Given the description of an element on the screen output the (x, y) to click on. 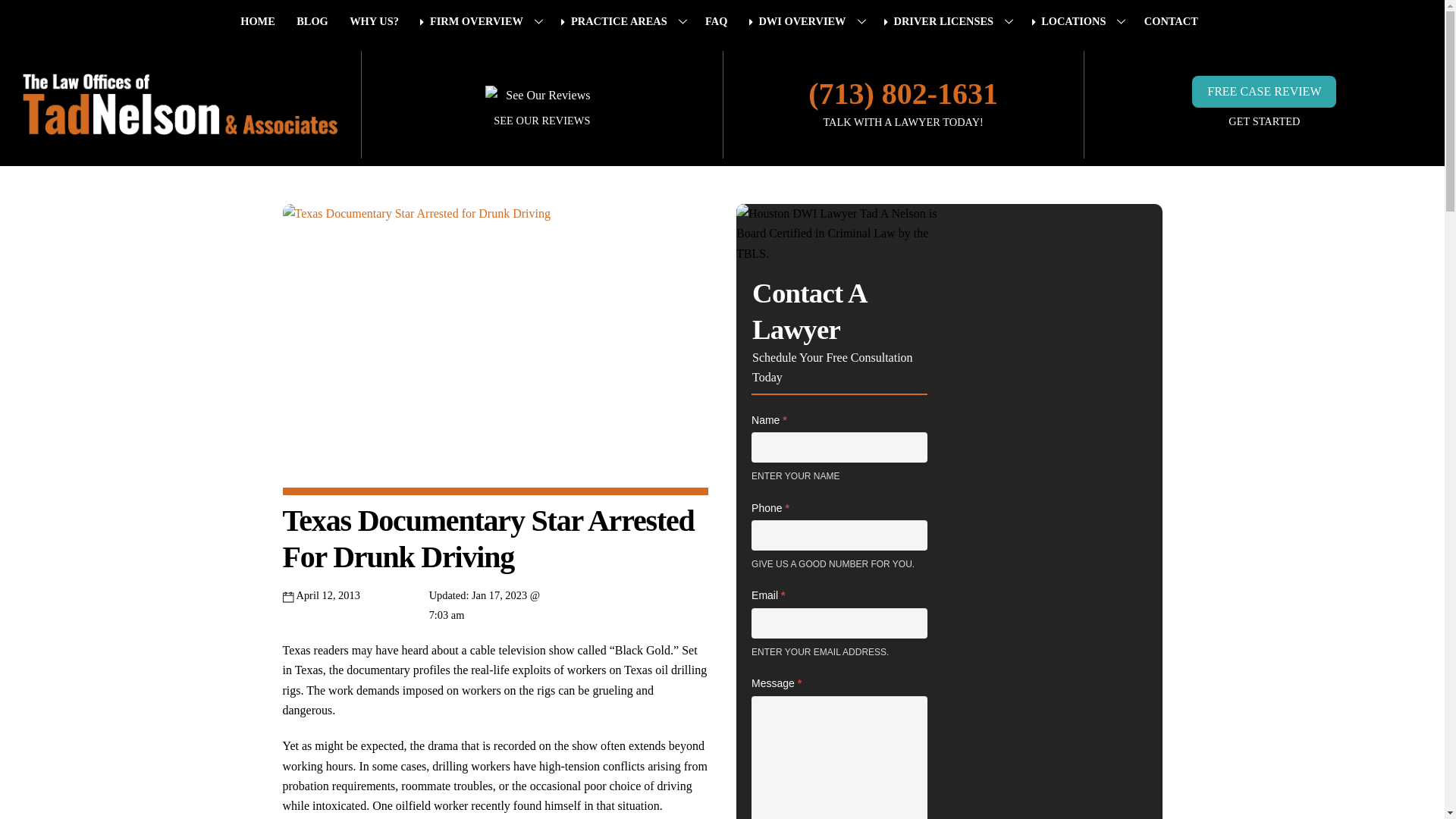
5 Star Rating (541, 96)
DWI Lawyer Reviews (541, 120)
FAQ (719, 21)
BLOG (315, 21)
DWI OVERVIEW (808, 21)
Texas DWI Overview (808, 21)
HOME (260, 21)
WHY US? (377, 21)
PRACTICE AREAS (625, 21)
FIRM OVERVIEW (482, 21)
